Given the description of an element on the screen output the (x, y) to click on. 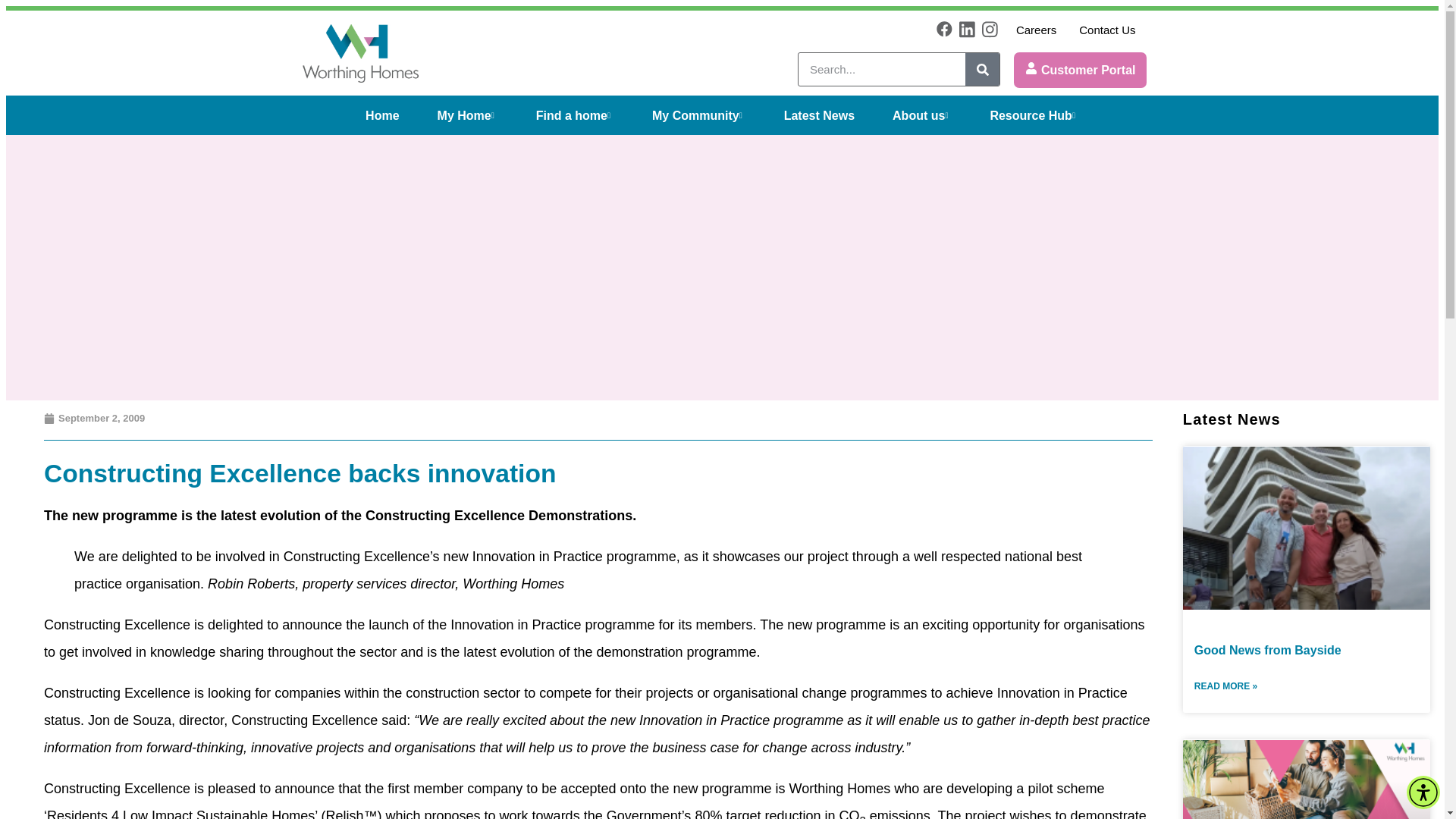
Home (381, 115)
Careers (1035, 29)
My Home (467, 115)
Contact Us (1107, 29)
Customer Portal (1080, 69)
Find a home (574, 115)
